Given the description of an element on the screen output the (x, y) to click on. 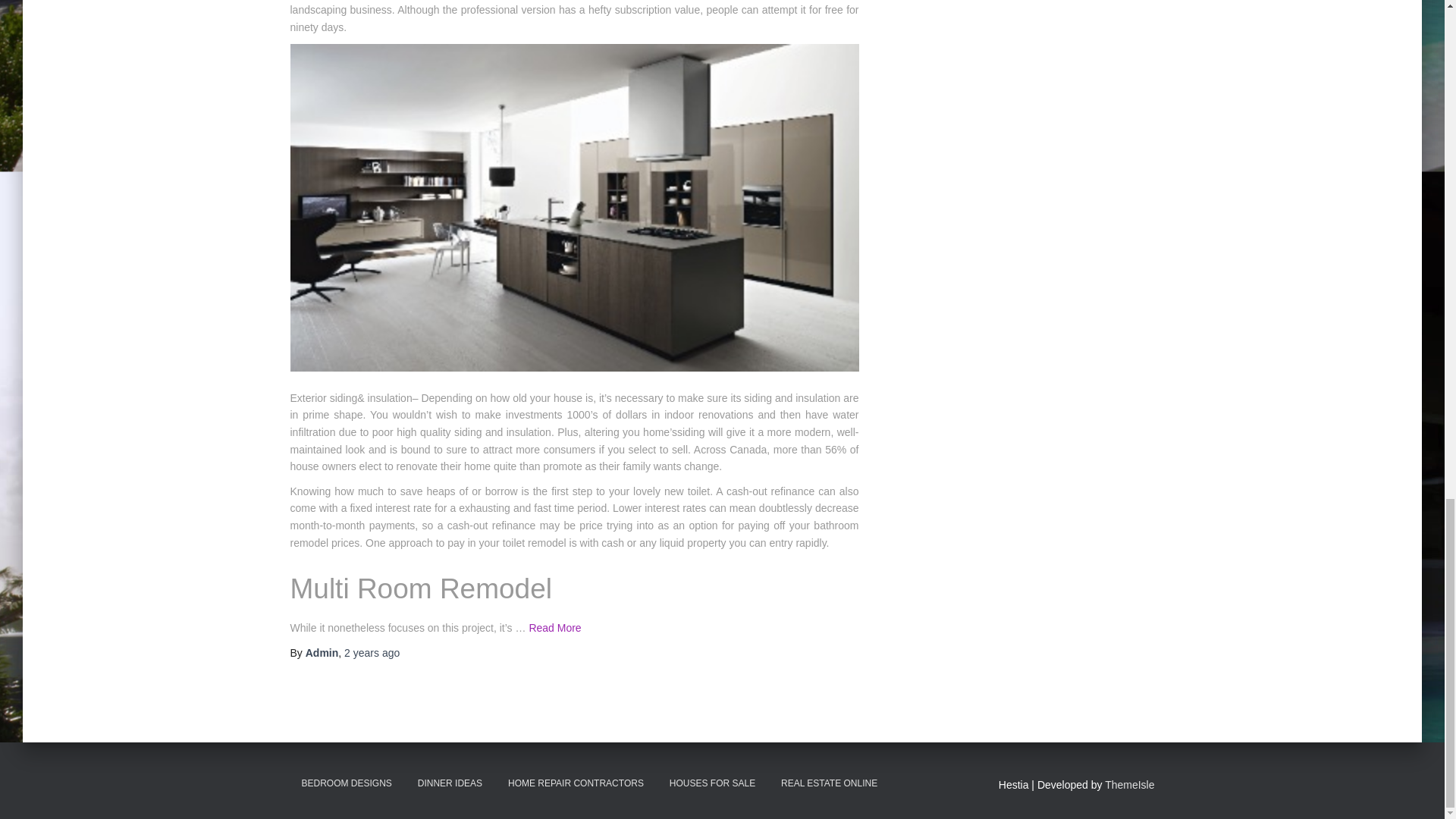
2 years ago (370, 653)
HOUSES FOR SALE (712, 783)
HOME REPAIR CONTRACTORS (575, 783)
DINNER IDEAS (449, 783)
REAL ESTATE ONLINE (829, 783)
Admin (322, 653)
Admin (322, 653)
Read More (554, 627)
ThemeIsle (1129, 784)
BEDROOM DESIGNS (346, 783)
